Given the description of an element on the screen output the (x, y) to click on. 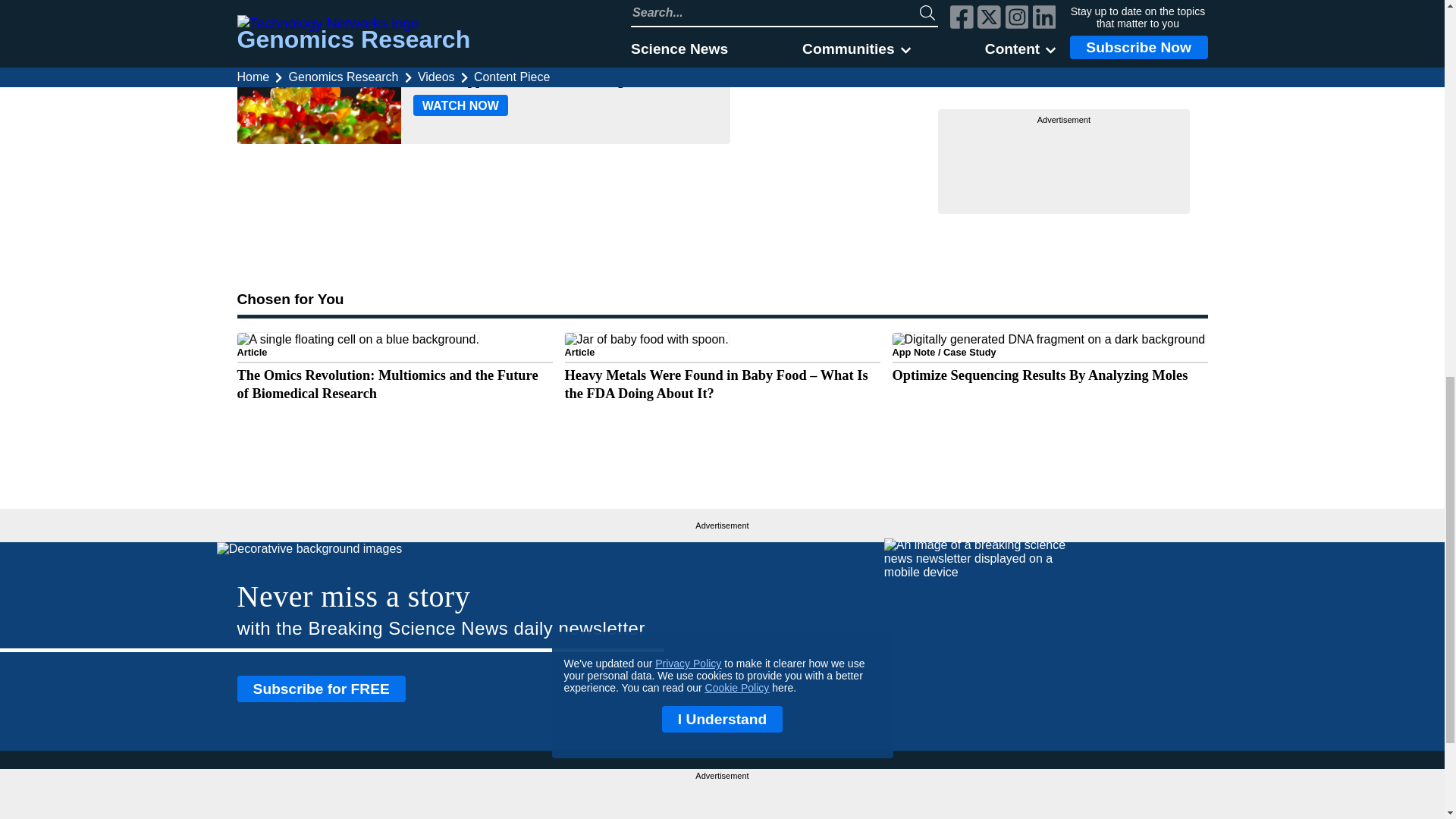
Link to Technology Networks' facebook page (1115, 799)
Link to Technology Networks' instagram page (1171, 799)
Link to Technology Networks' twitter page (1143, 799)
Link to Technology Networks' linkedin page (1196, 799)
